Given the description of an element on the screen output the (x, y) to click on. 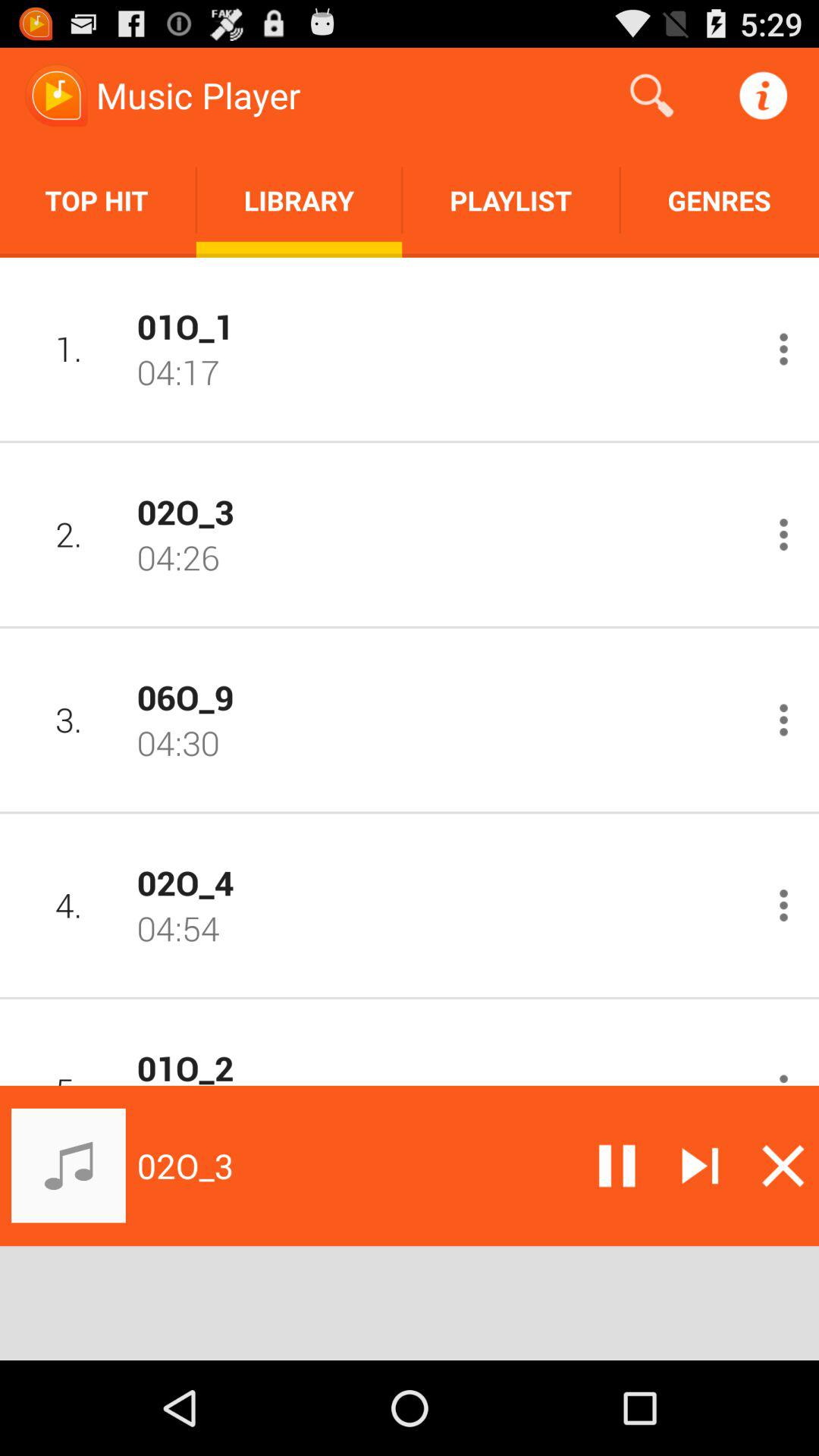
click the icon next to library icon (98, 200)
